Given the description of an element on the screen output the (x, y) to click on. 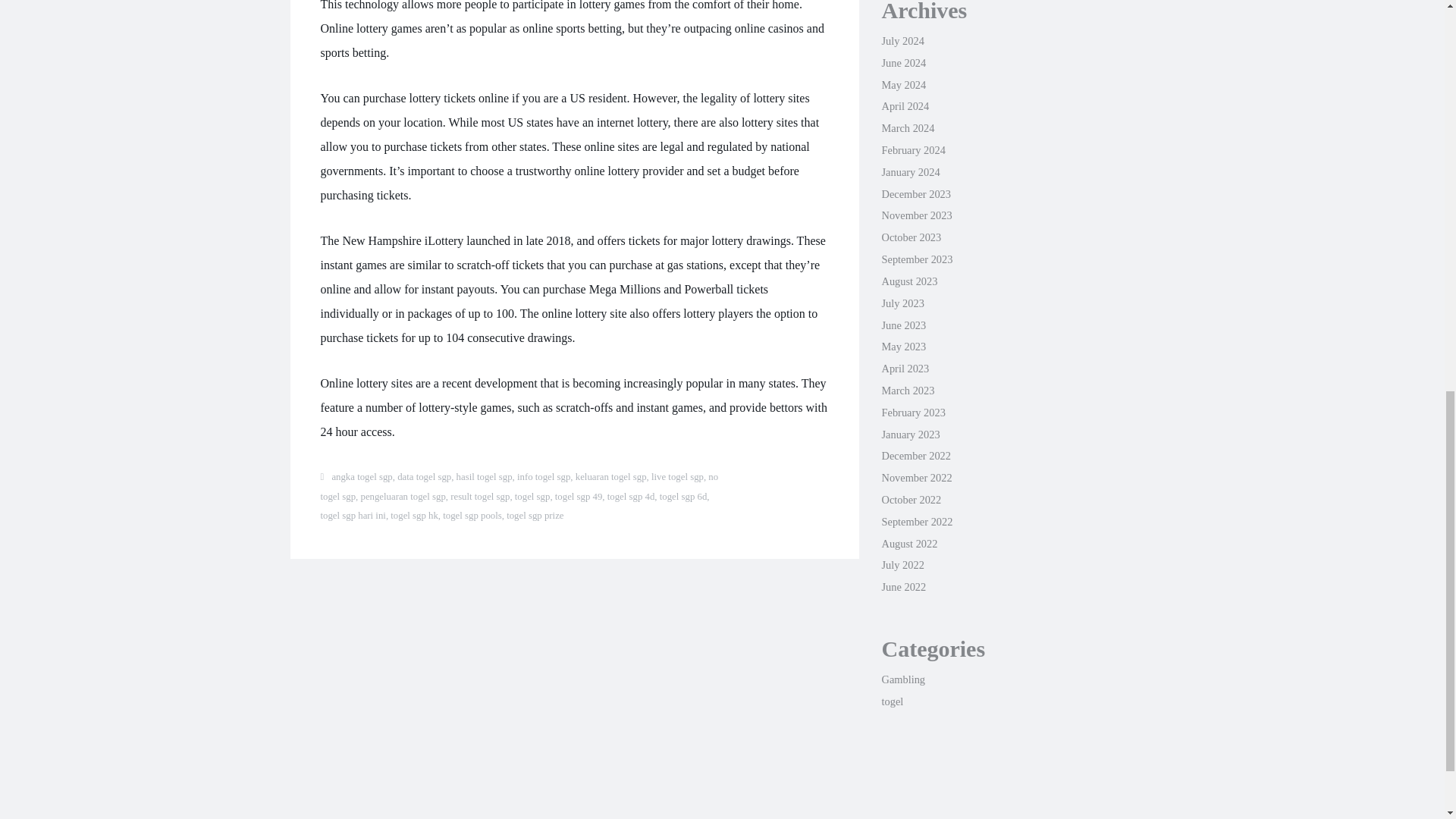
result togel sgp (479, 496)
togel sgp pools (472, 515)
April 2024 (904, 105)
togel sgp hari ini (352, 515)
June 2024 (903, 62)
February 2024 (912, 150)
togel sgp 49 (578, 496)
no togel sgp (518, 486)
March 2024 (907, 128)
pengeluaran togel sgp (402, 496)
togel sgp (532, 496)
July 2024 (901, 40)
togel sgp 4d (631, 496)
angka togel sgp (361, 476)
keluaran togel sgp (610, 476)
